Given the description of an element on the screen output the (x, y) to click on. 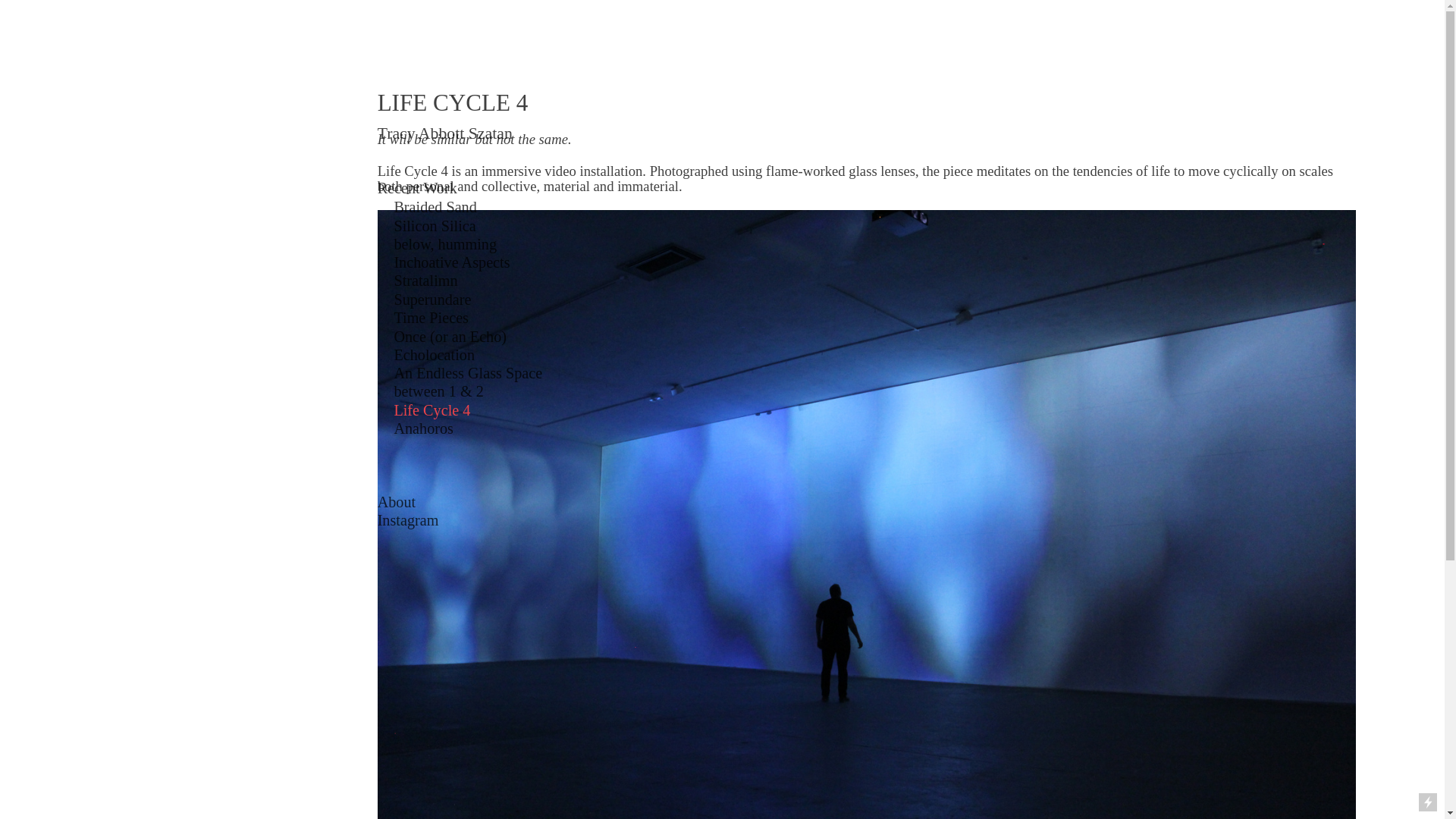
Echolocation (433, 354)
Time Pieces (430, 317)
About (396, 501)
Stratalimn (425, 280)
Anahoros (422, 428)
Inchoative Aspects (451, 262)
Instagram (408, 519)
Superundare (431, 299)
below, humming (444, 243)
Silicon Silica (434, 225)
Braided Sand (434, 207)
Tracy Abbott Szatan (444, 133)
Life Cycle 4 (431, 410)
An Endless Glass Space (467, 372)
